Given the description of an element on the screen output the (x, y) to click on. 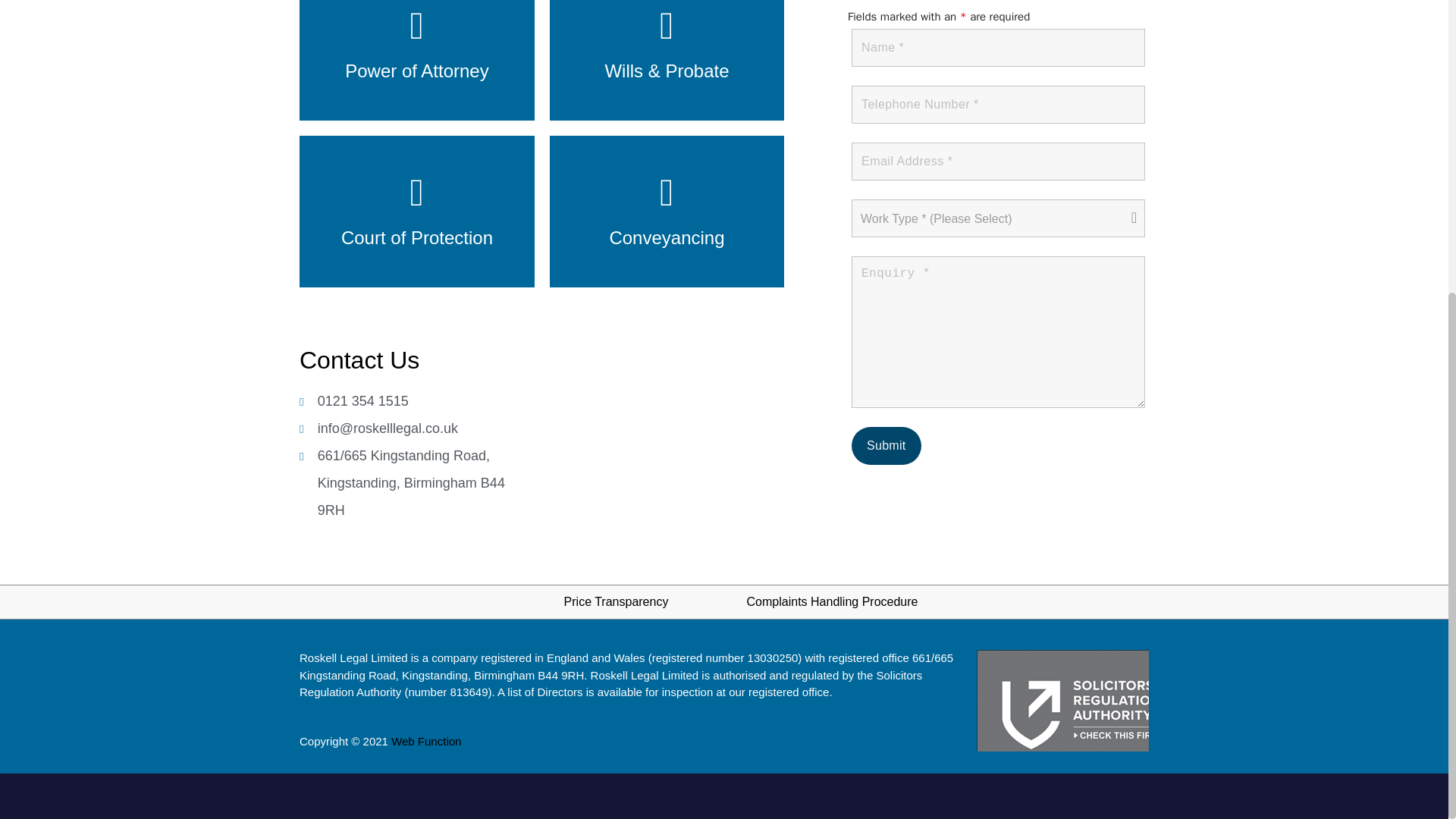
Web Function (426, 740)
Submit (886, 445)
Price Transparency (616, 601)
Complaints Handling Procedure (832, 601)
